Given the description of an element on the screen output the (x, y) to click on. 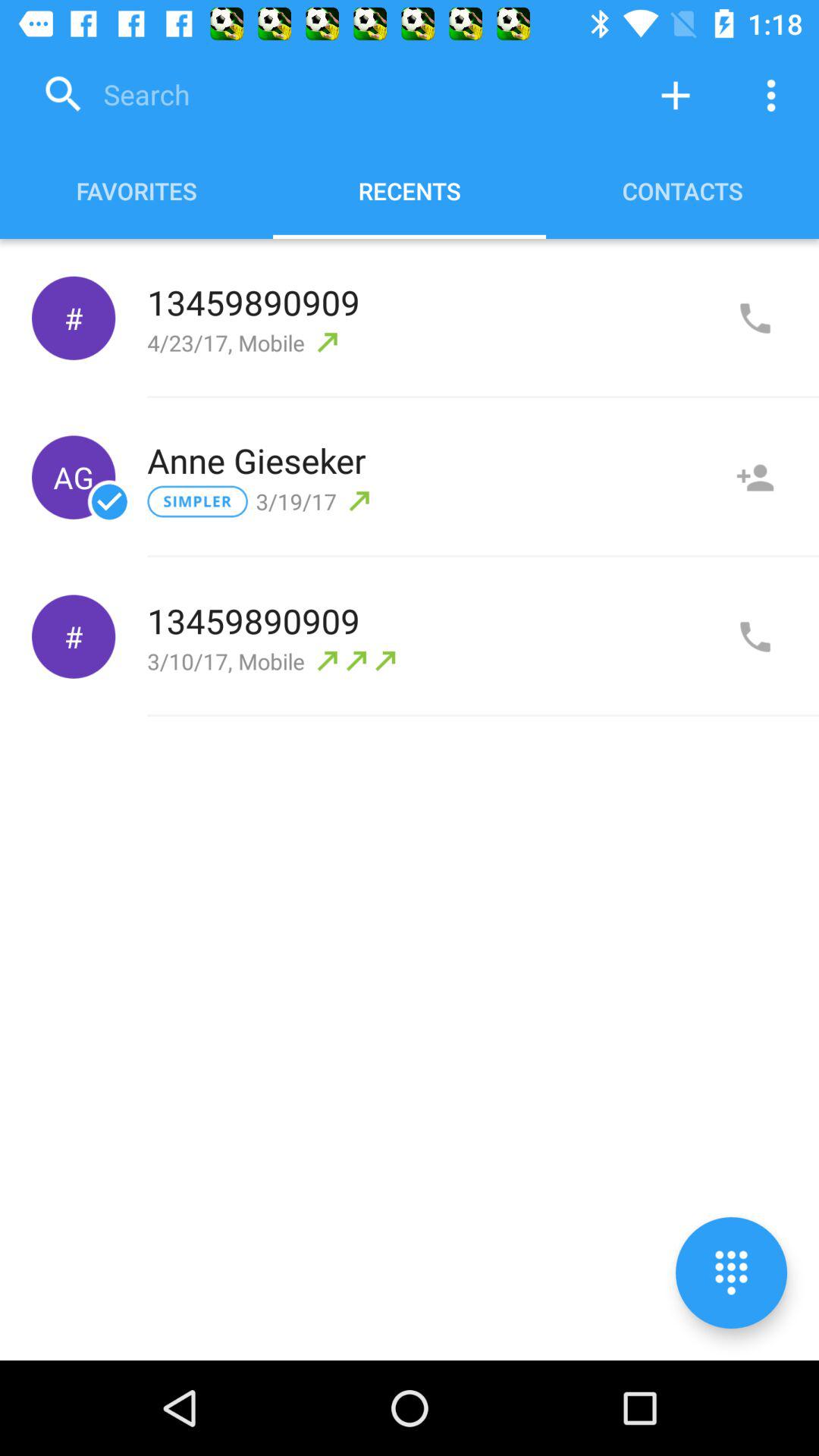
call number (755, 318)
